Given the description of an element on the screen output the (x, y) to click on. 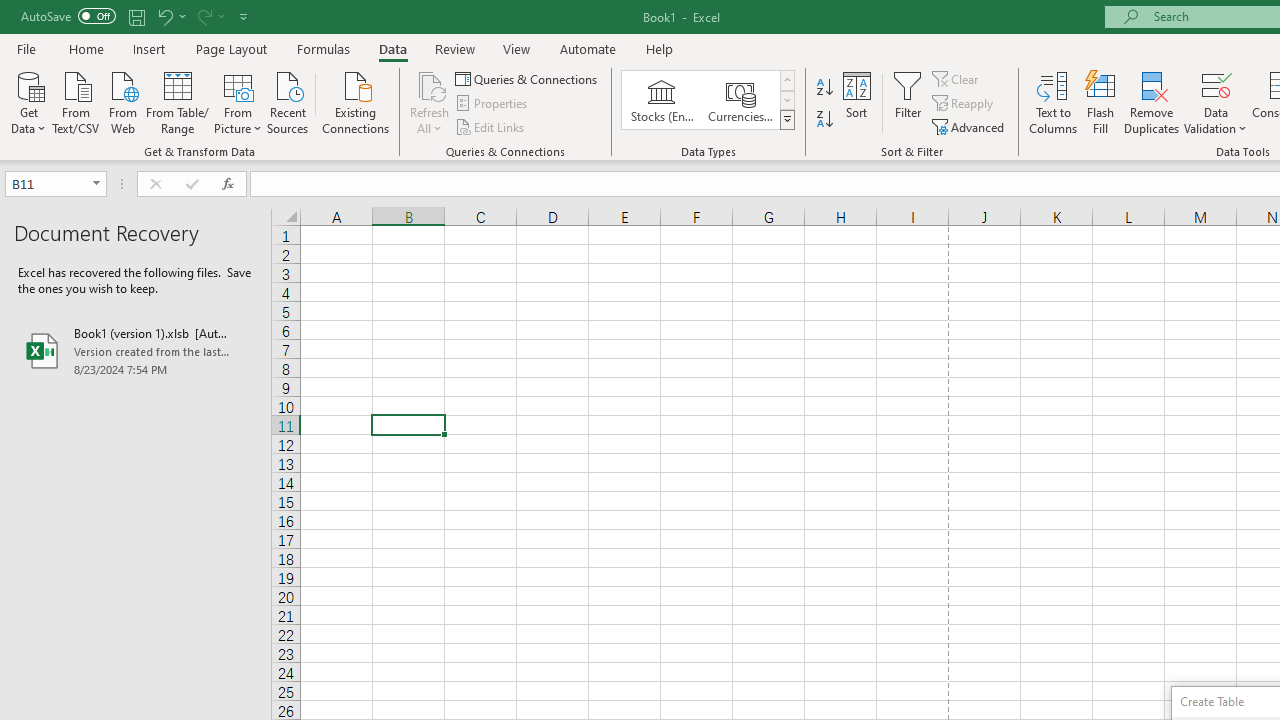
From Web (122, 101)
Reapply (964, 103)
Review (454, 48)
Page Layout (230, 48)
Quick Access Toolbar (136, 16)
Name Box (56, 183)
Redo (209, 15)
File Tab (26, 48)
Name Box (46, 183)
System (10, 11)
View (517, 48)
Undo (170, 15)
Redo (203, 15)
Automate (588, 48)
Undo (164, 15)
